Given the description of an element on the screen output the (x, y) to click on. 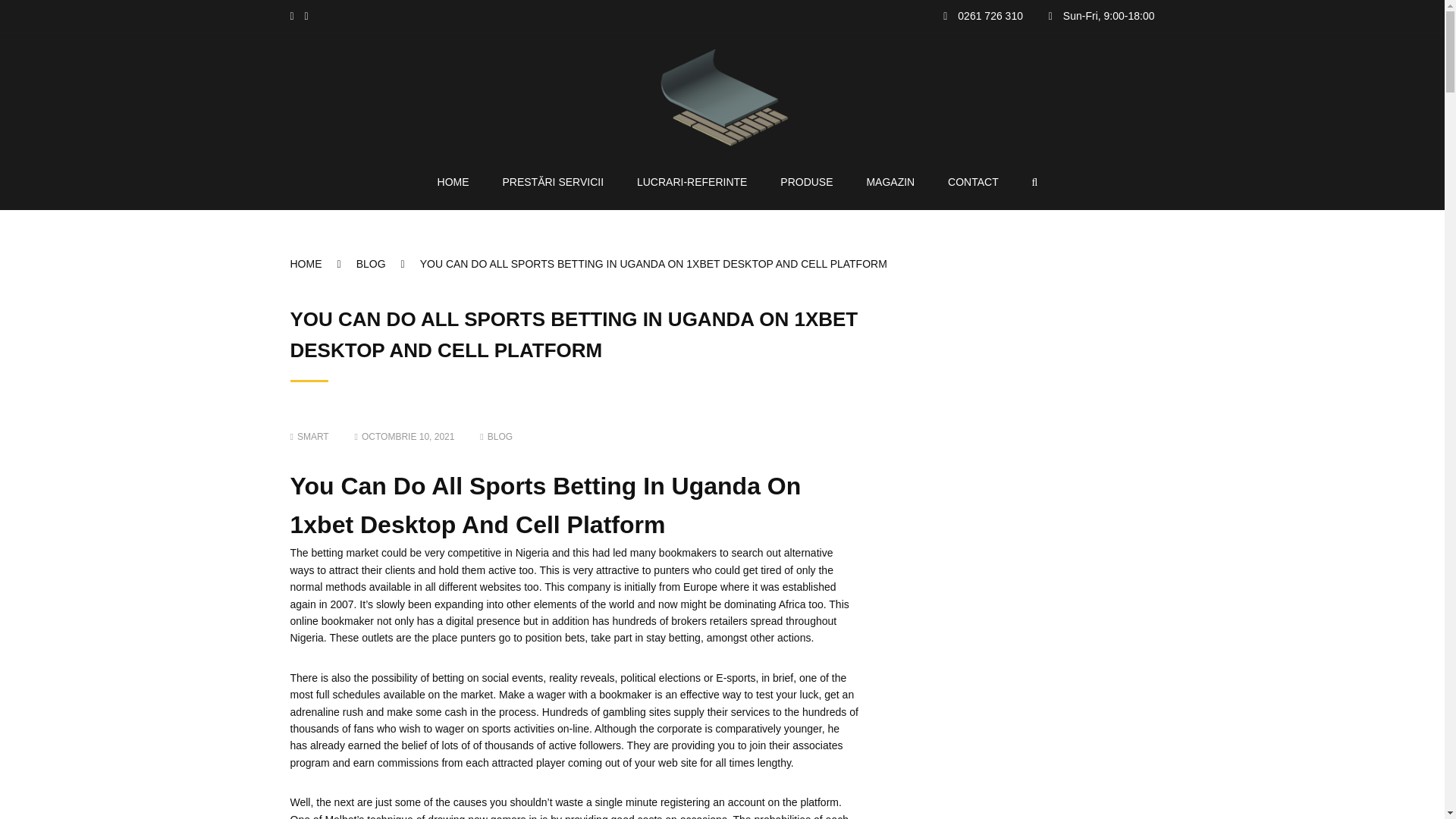
LUCRARI-REFERINTE (691, 181)
HOME (453, 181)
OCTOMBRIE 10, 2021 (404, 436)
BLOG (388, 263)
HOME (322, 263)
MAGAZIN (890, 181)
BLOG (499, 436)
SMART (309, 436)
CONTACT (972, 181)
PRODUSE (806, 181)
